Given the description of an element on the screen output the (x, y) to click on. 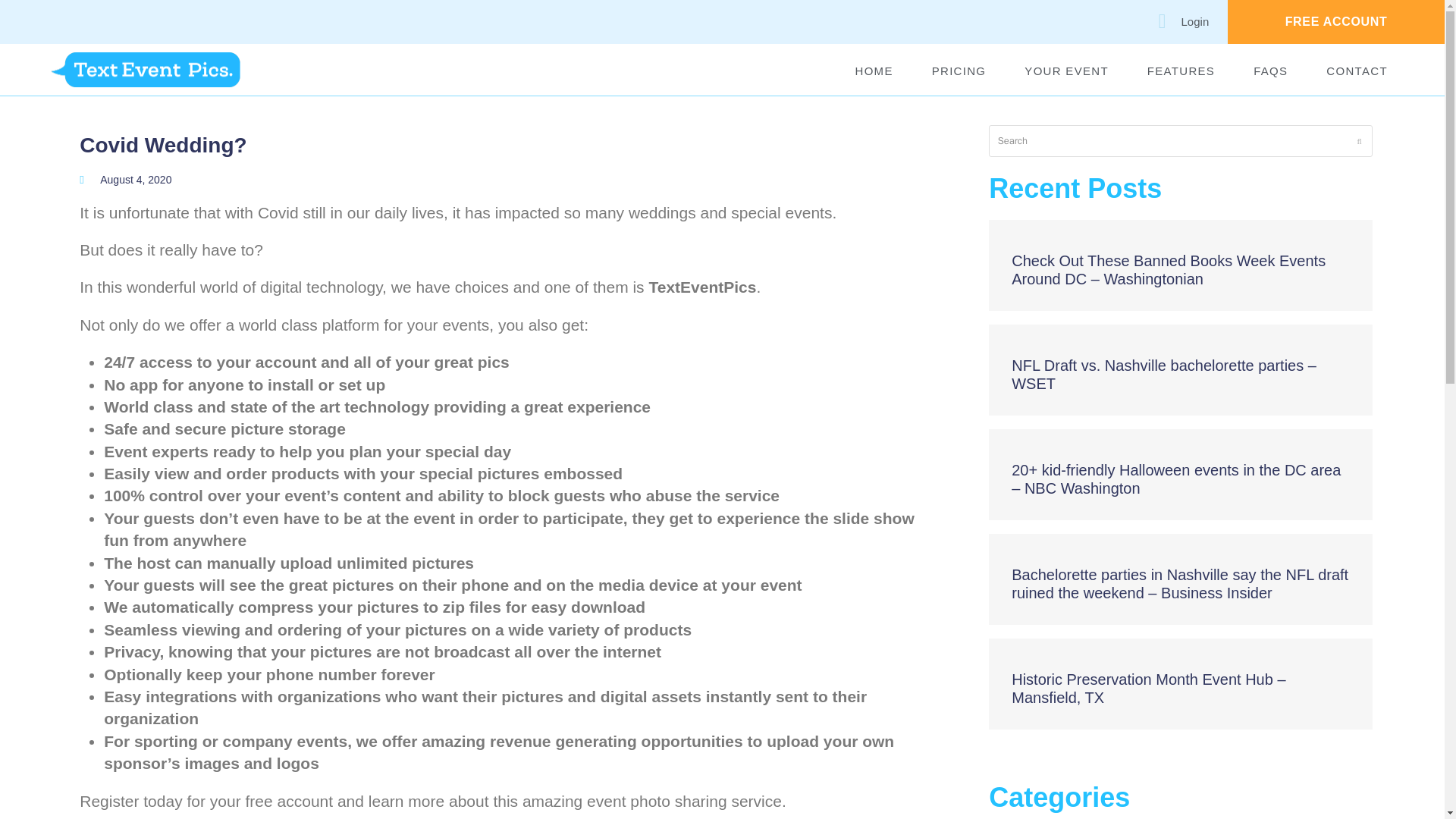
Login (1174, 21)
HOME (874, 71)
CONTACT (1356, 71)
August 4, 2020 (125, 179)
FAQS (1270, 71)
YOUR EVENT (1066, 71)
FEATURES (1181, 71)
PRICING (959, 71)
